Given the description of an element on the screen output the (x, y) to click on. 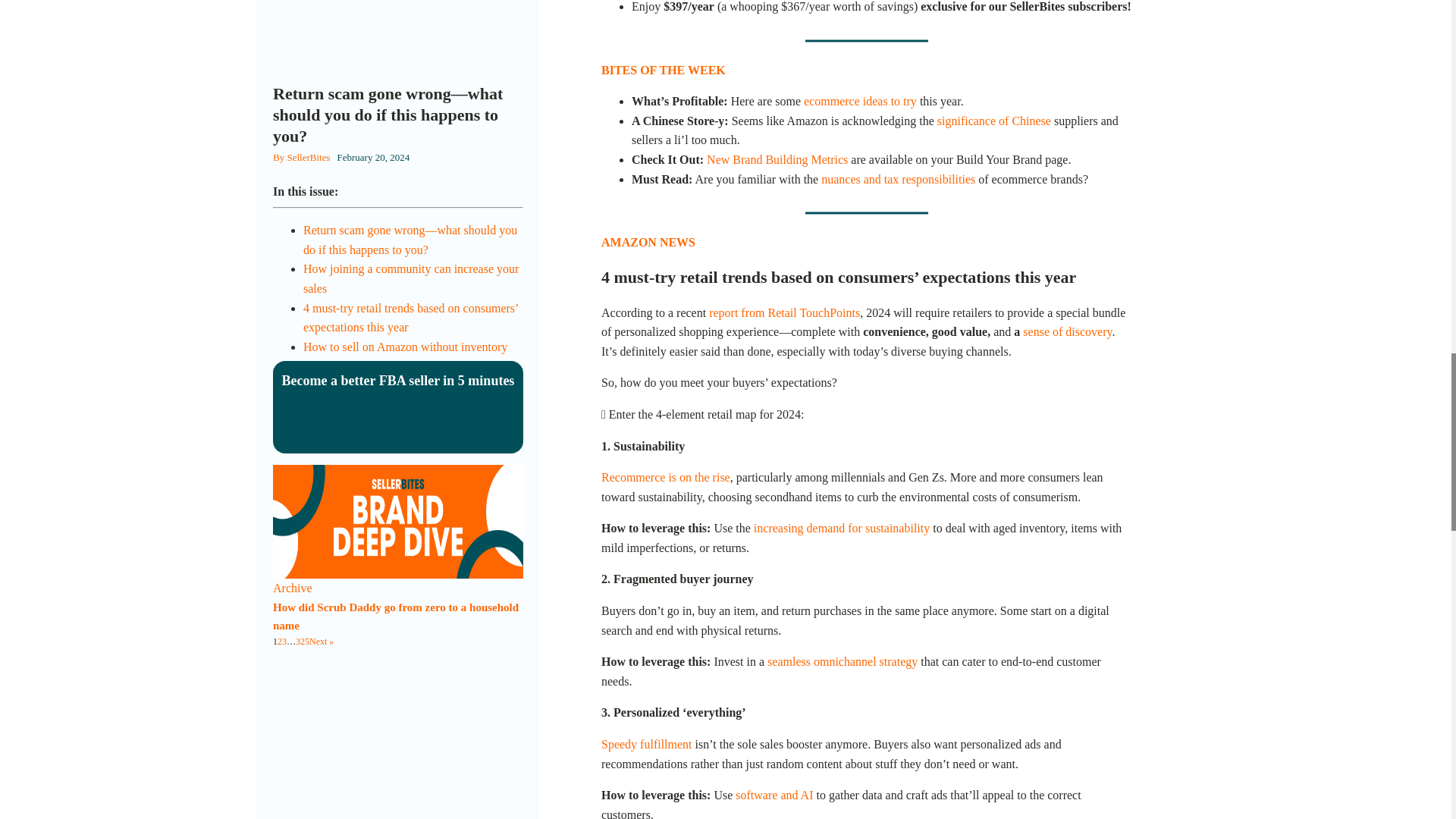
nuances and tax responsibilities (898, 178)
New Brand Building Metrics (776, 159)
report from Retail TouchPoints (784, 312)
significance of Chinese (994, 120)
ecommerce ideas to try (860, 101)
